Given the description of an element on the screen output the (x, y) to click on. 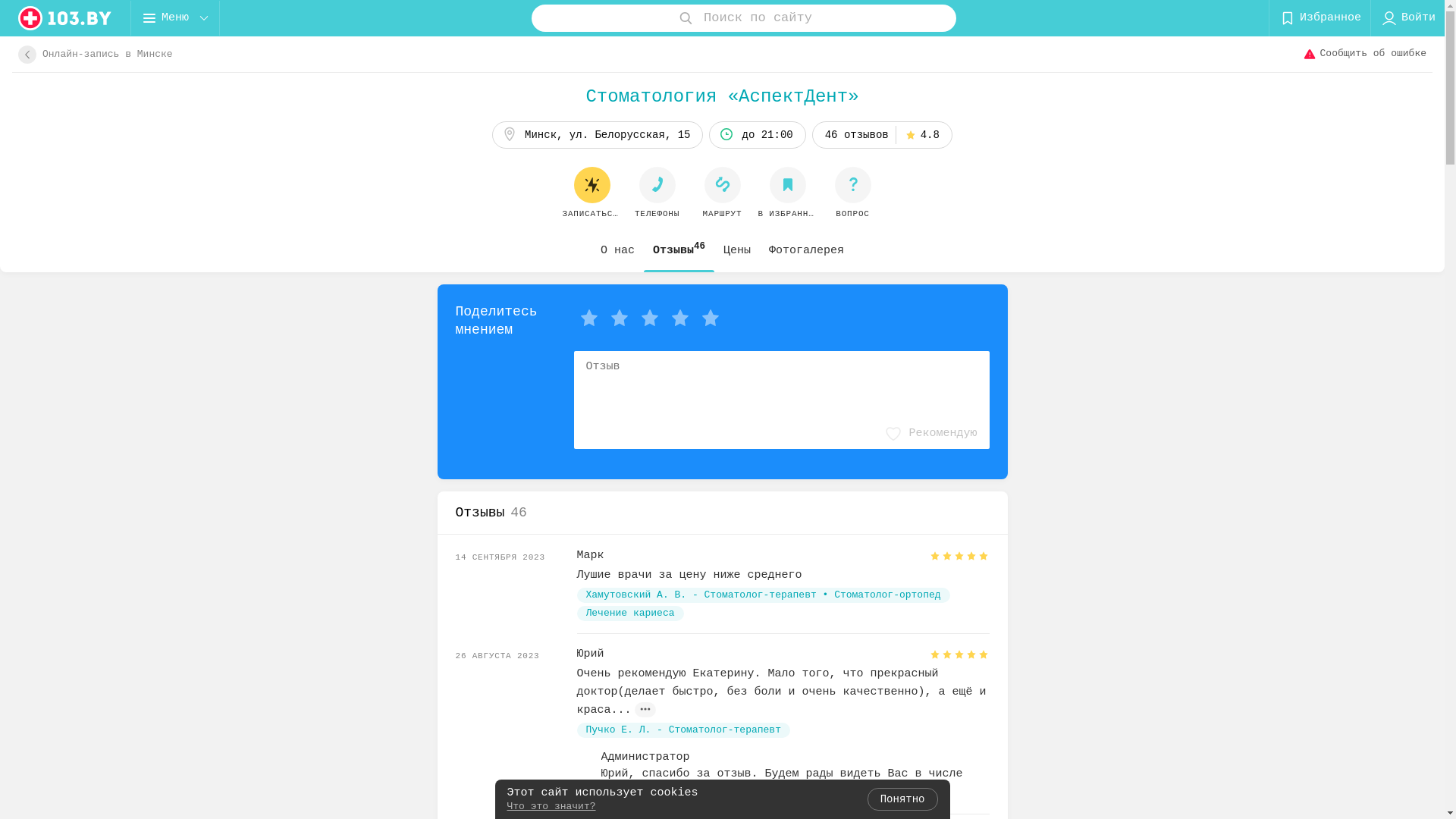
logo Element type: hover (65, 18)
